Given the description of an element on the screen output the (x, y) to click on. 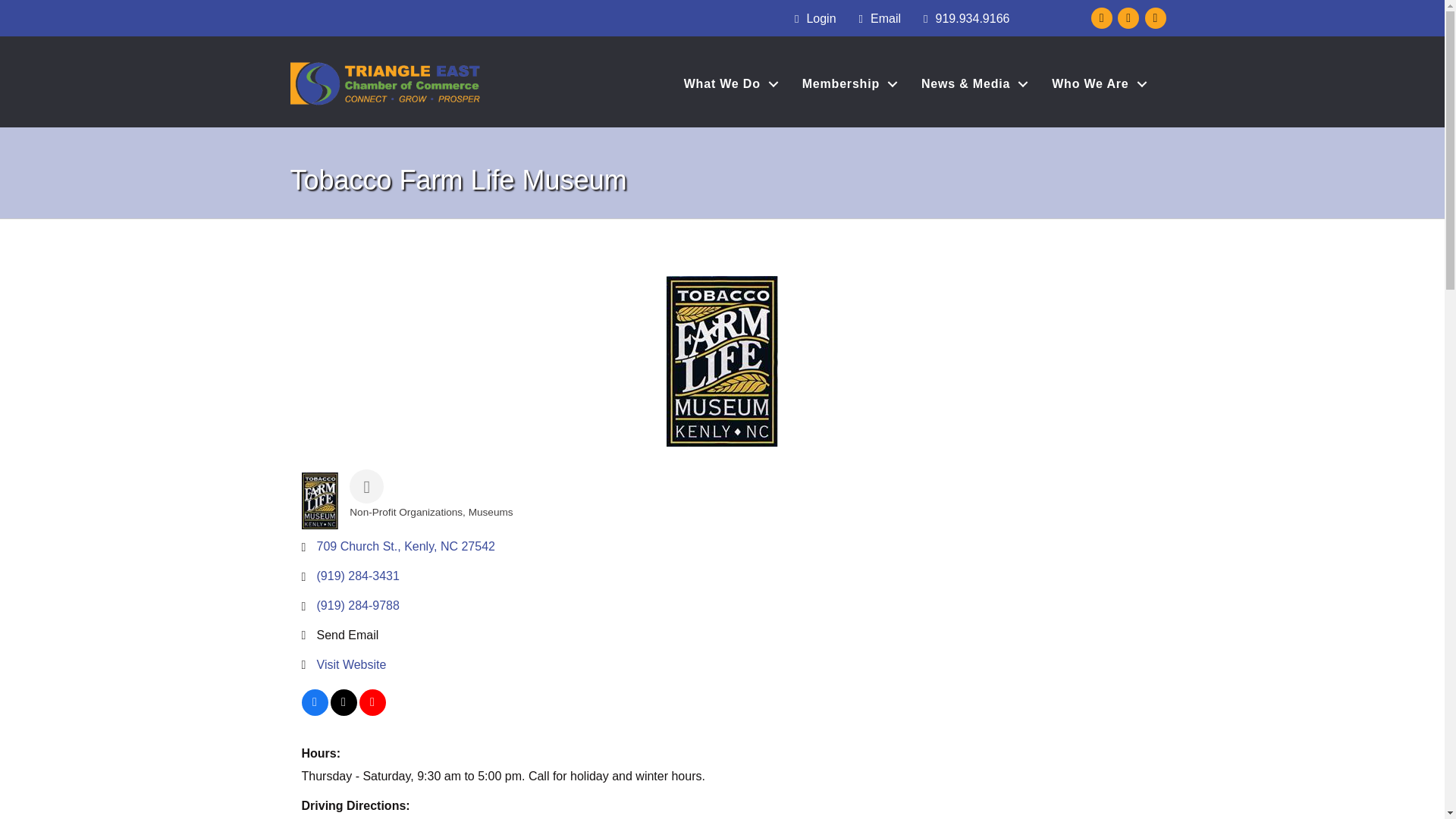
Email (876, 18)
Visit Website (352, 664)
What We Do (727, 83)
View on Twitter (343, 711)
View on Facebook (315, 711)
709 Church St. Kenly NC 27542 (406, 545)
View on Youtube (372, 711)
Membership (846, 83)
Send Email (347, 635)
TriangleEastChamberPrimaryLogoHorizontal (384, 83)
